Given the description of an element on the screen output the (x, y) to click on. 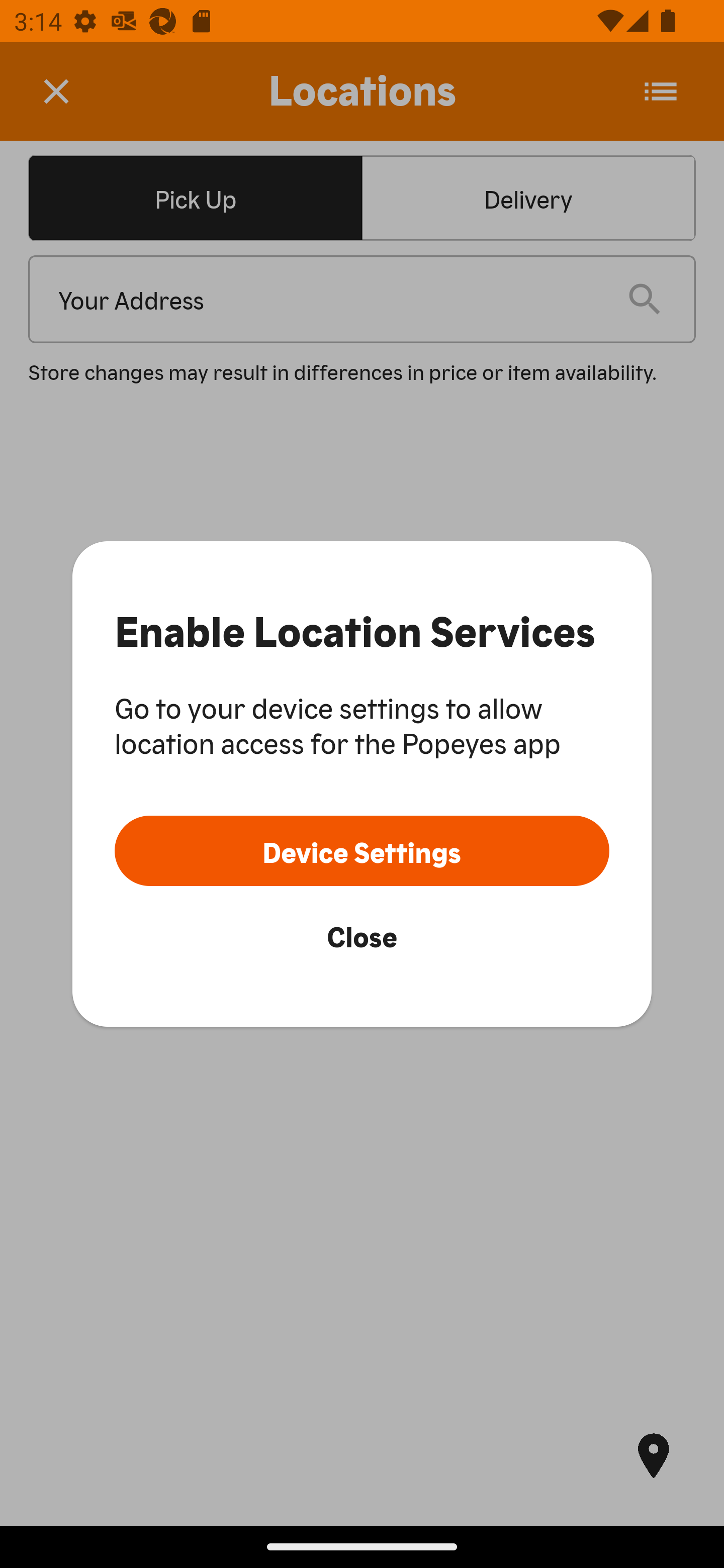
Device Settings (361, 850)
Close (361, 935)
